Given the description of an element on the screen output the (x, y) to click on. 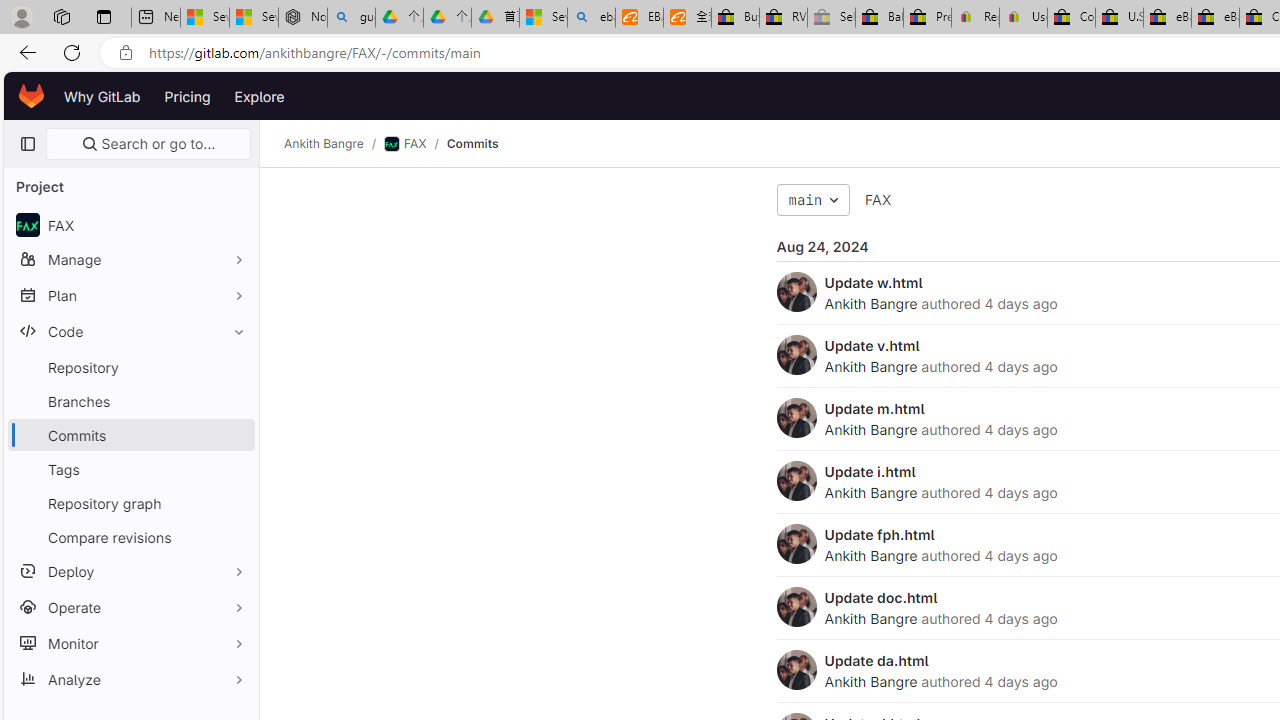
Compare revisions (130, 536)
Update doc.html (881, 597)
